Given the description of an element on the screen output the (x, y) to click on. 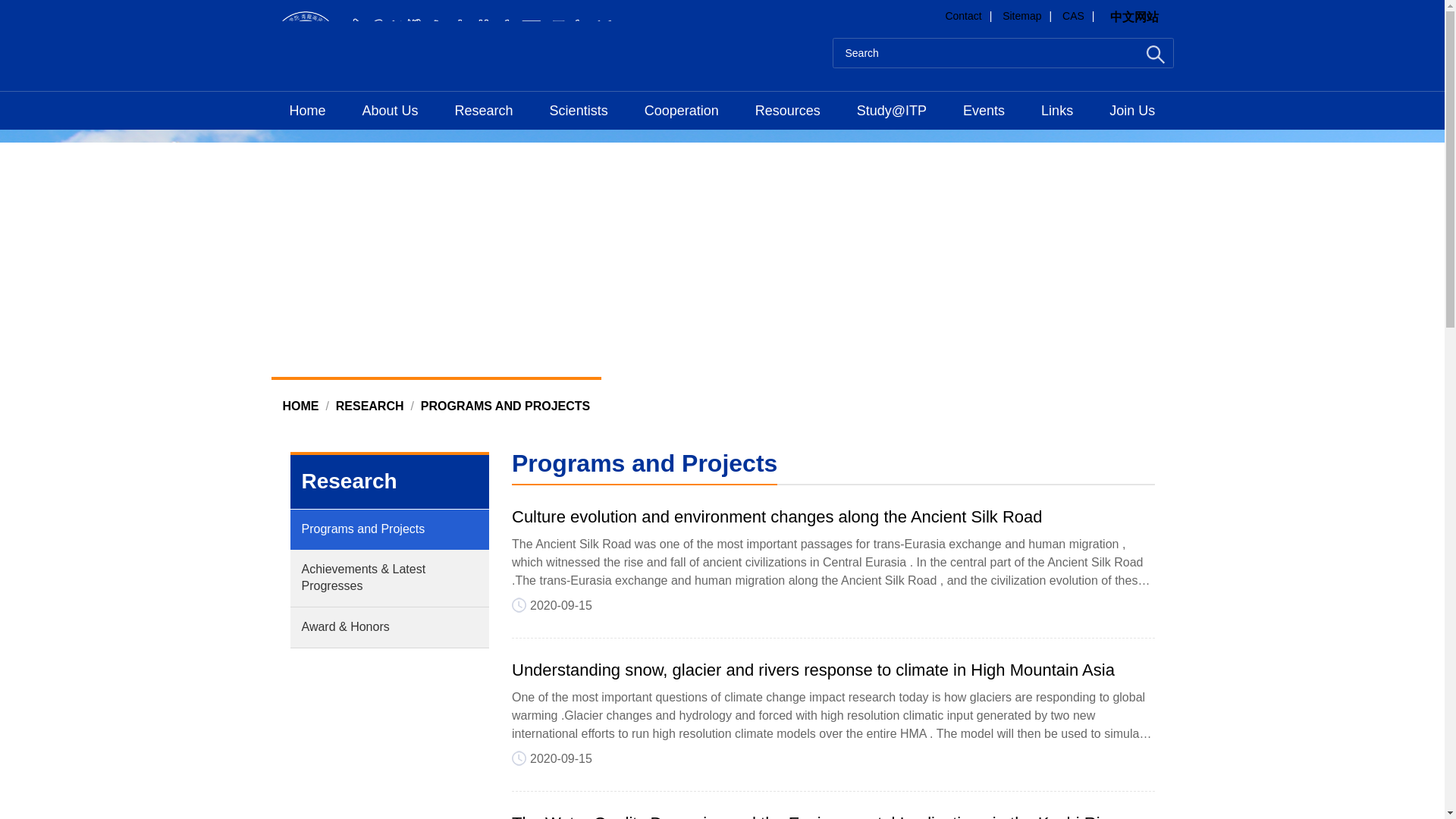
Cooperation (681, 110)
Scientists (578, 110)
Home (306, 110)
Home (300, 405)
Events (983, 110)
Sitemap (1022, 15)
About Us (389, 110)
Programs and Projects (504, 405)
Contact (962, 15)
Research (483, 110)
Resources (787, 110)
Research (370, 405)
CAS (1073, 15)
